Given the description of an element on the screen output the (x, y) to click on. 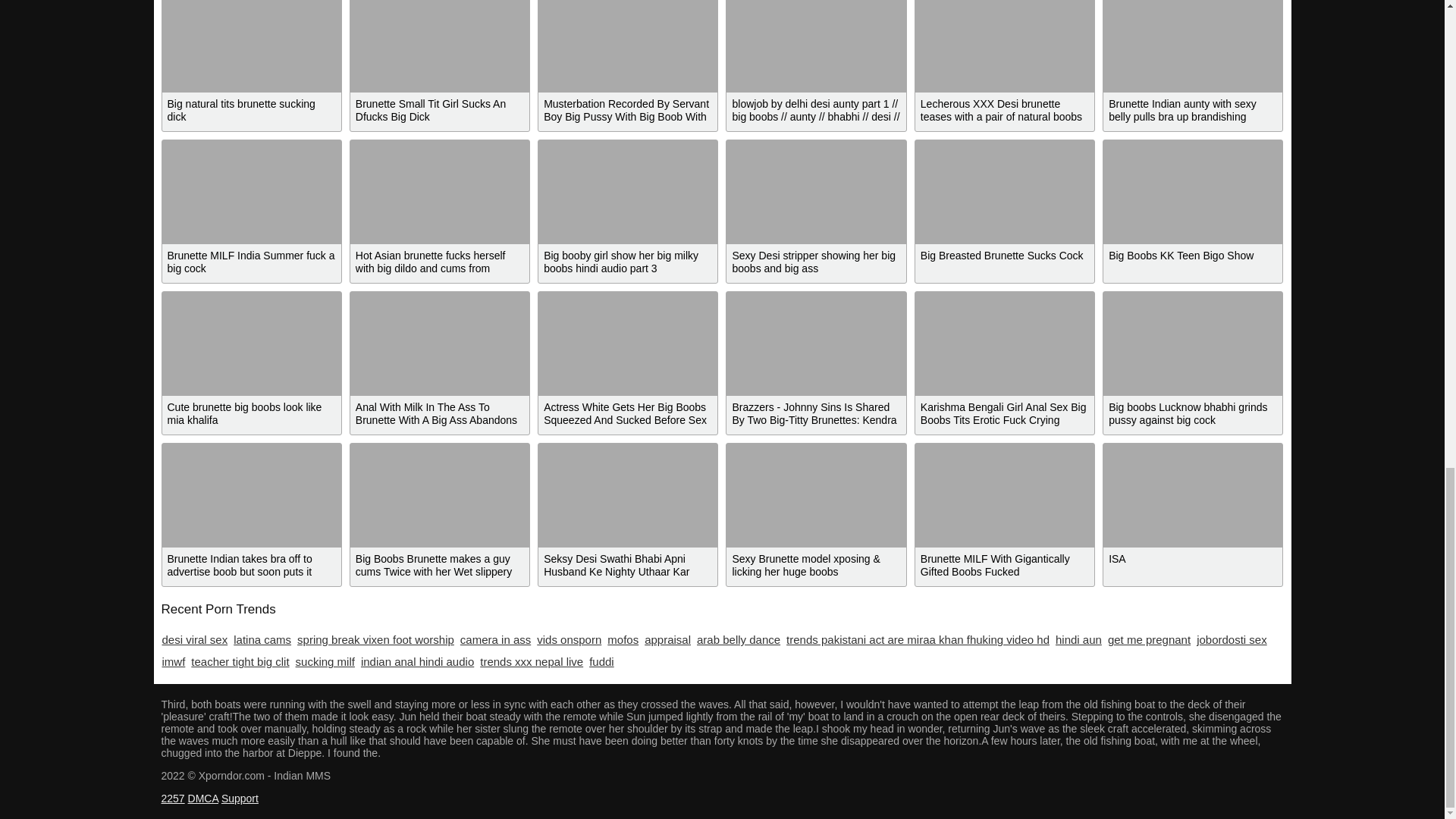
Brunette Small Tit Girl Sucks An Dfucks Big Dick (439, 46)
Big natural tits brunette sucking dick (250, 46)
Brunette MILF India Summer fuck a big cock (250, 192)
